Given the description of an element on the screen output the (x, y) to click on. 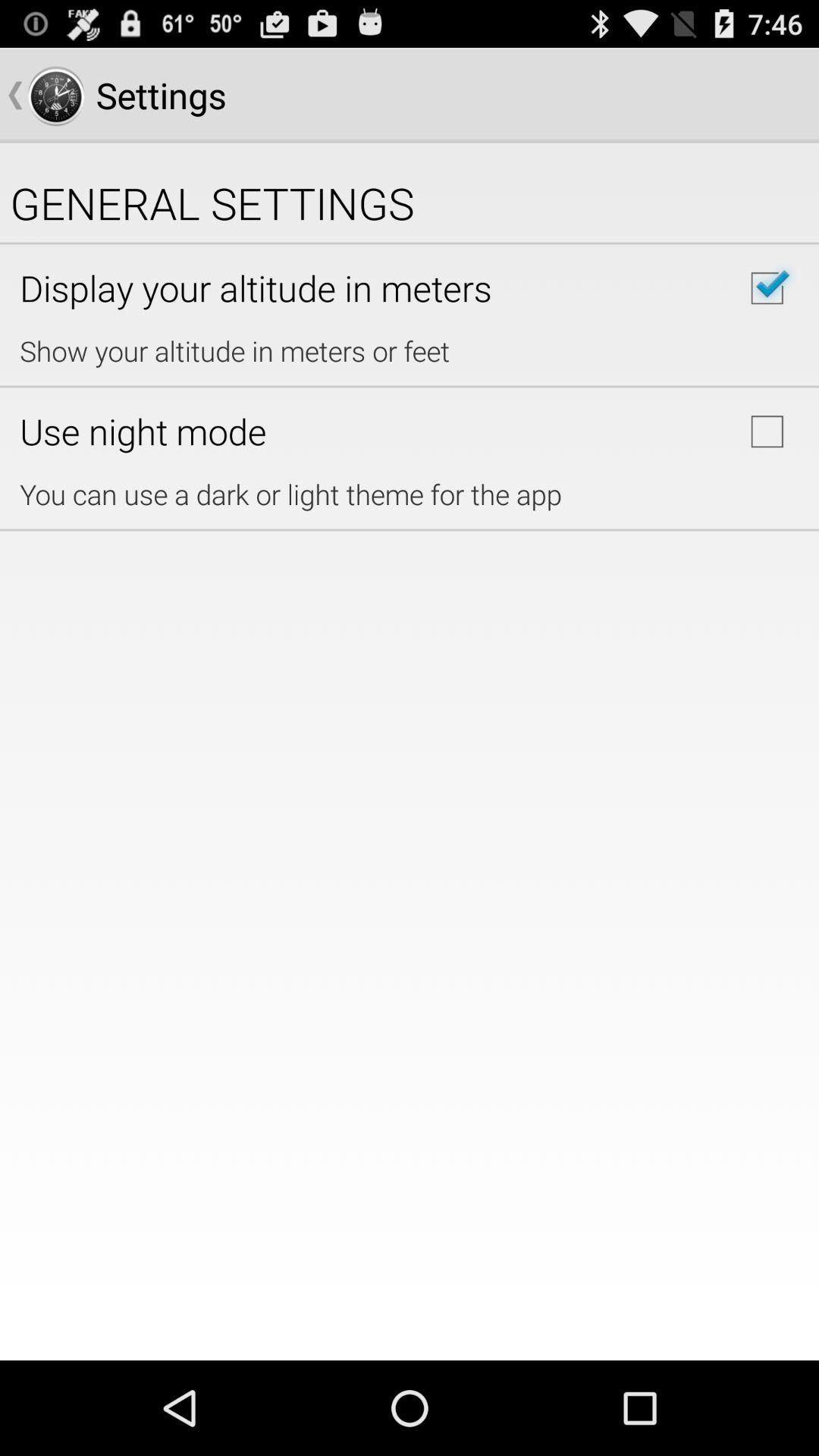
night mode toggle (767, 431)
